Given the description of an element on the screen output the (x, y) to click on. 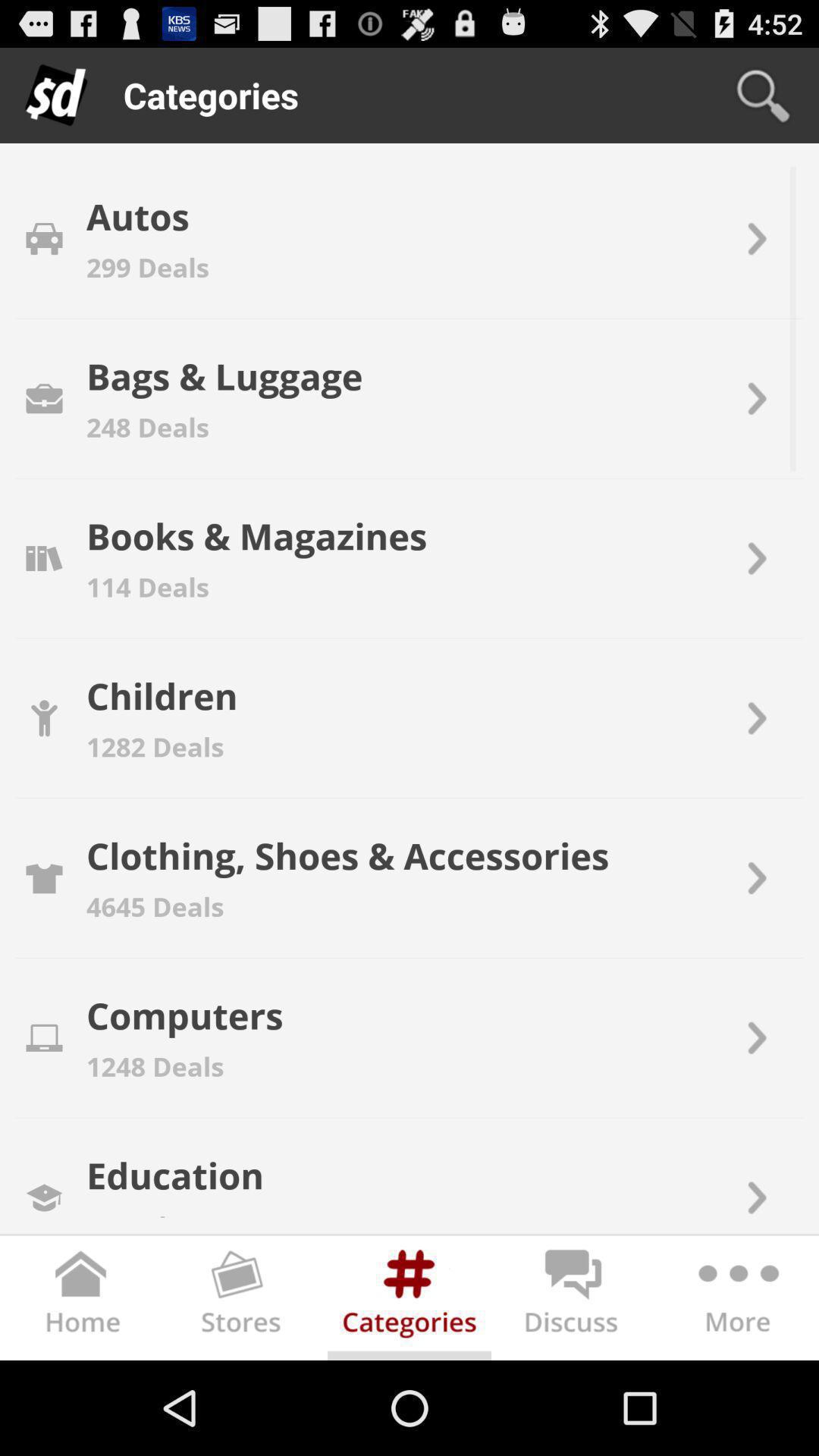
discuss (573, 1301)
